Given the description of an element on the screen output the (x, y) to click on. 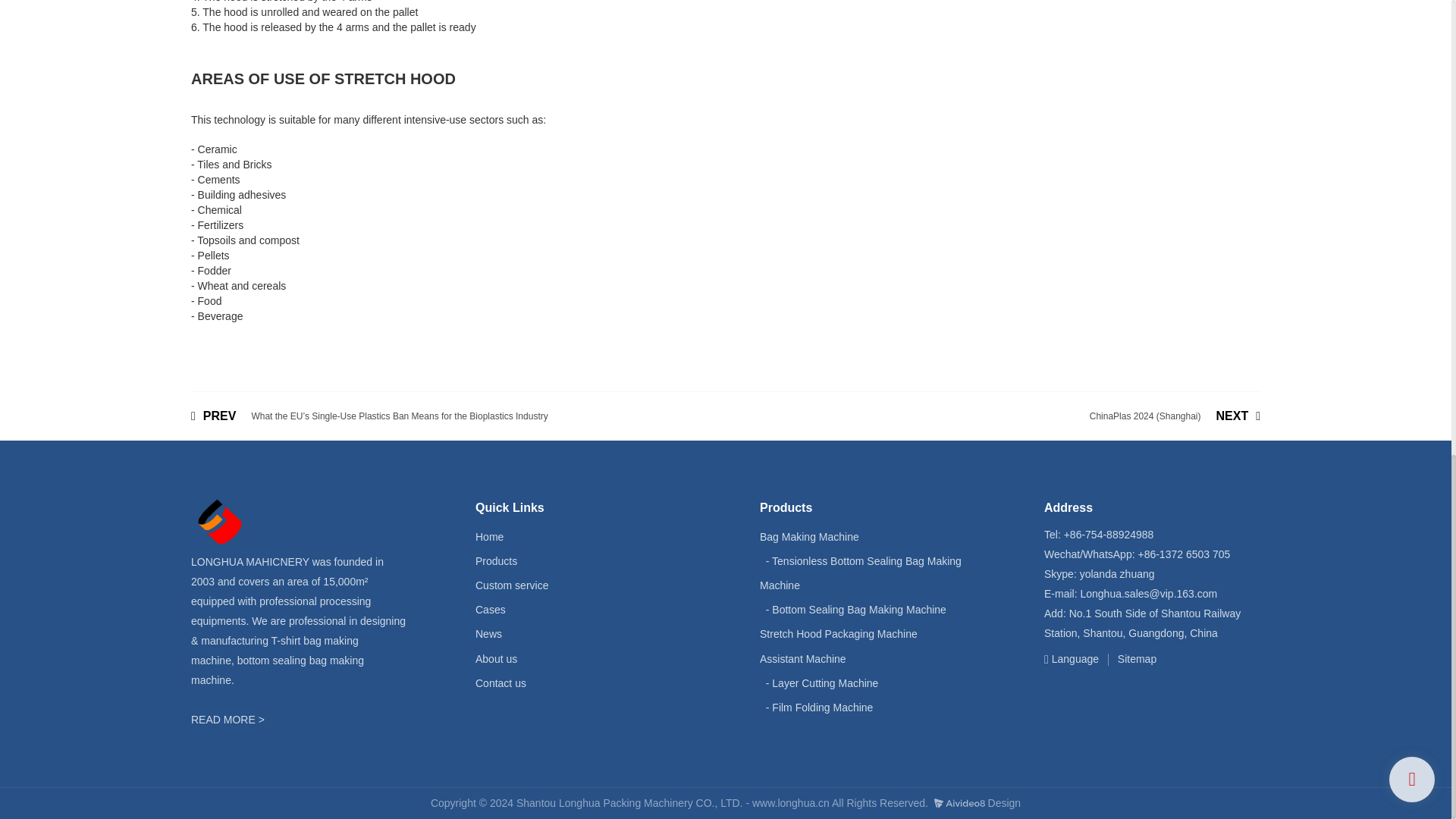
Home (489, 536)
- Tensionless Bottom Sealing Bag Making Machine (860, 573)
Contact us (500, 683)
- Bottom Sealing Bag Making Machine (855, 609)
Bag Making Machine (809, 536)
Assistant Machine (802, 658)
About us (496, 658)
Stretch Hood Packaging Machine (838, 633)
Cases (490, 609)
Custom service (512, 585)
- Layer Cutting Machine (822, 683)
News (489, 633)
Products (496, 561)
